Given the description of an element on the screen output the (x, y) to click on. 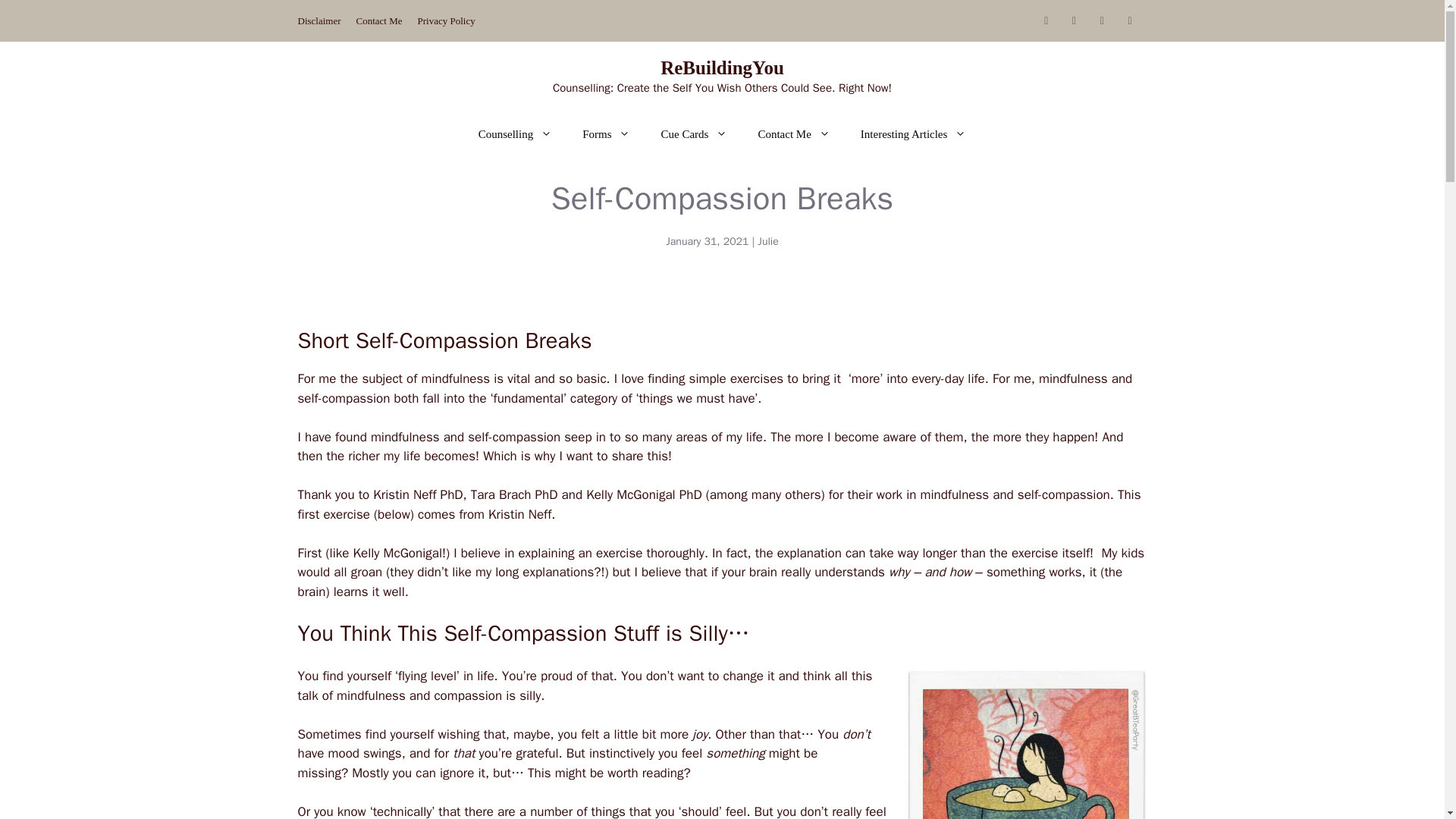
Disclaimer (318, 20)
YouTube (1045, 21)
View all posts by Julie (767, 241)
Twitter (1102, 21)
Contact Me (379, 20)
ReBuildingYou (722, 67)
LinkedIn (1130, 21)
Privacy Policy (446, 20)
Counselling (515, 134)
RSS (1073, 21)
